Given the description of an element on the screen output the (x, y) to click on. 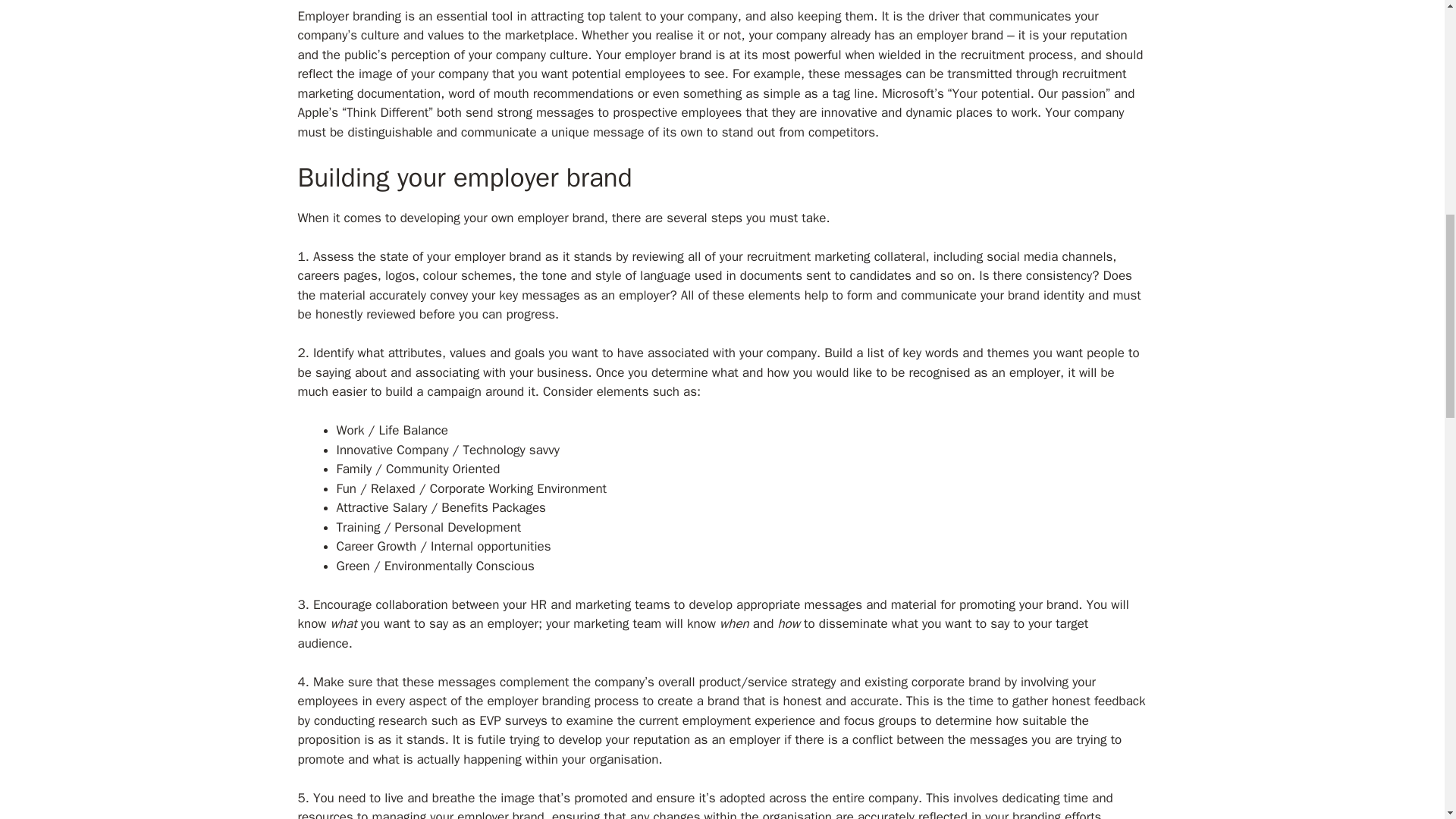
Apple (313, 112)
